Given the description of an element on the screen output the (x, y) to click on. 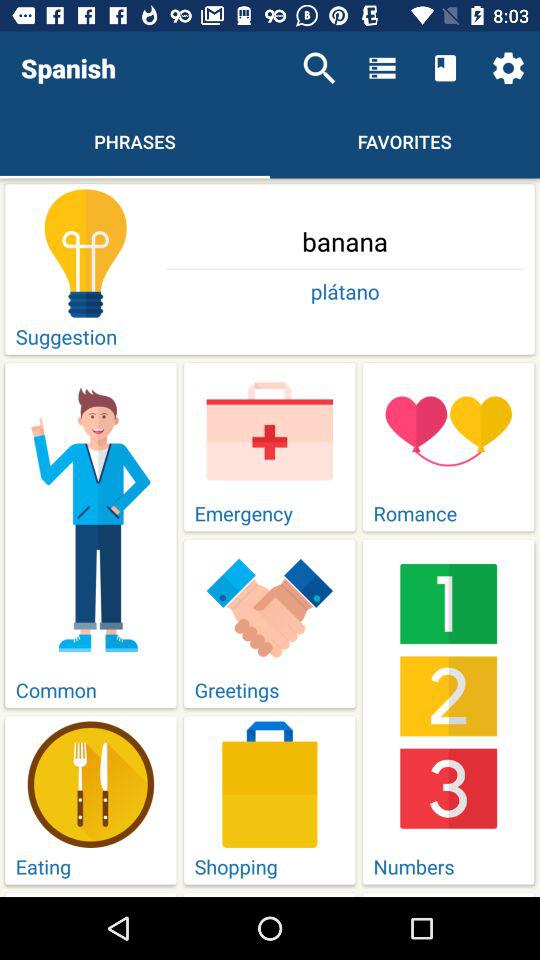
select the icon next to the spanish icon (319, 67)
